Given the description of an element on the screen output the (x, y) to click on. 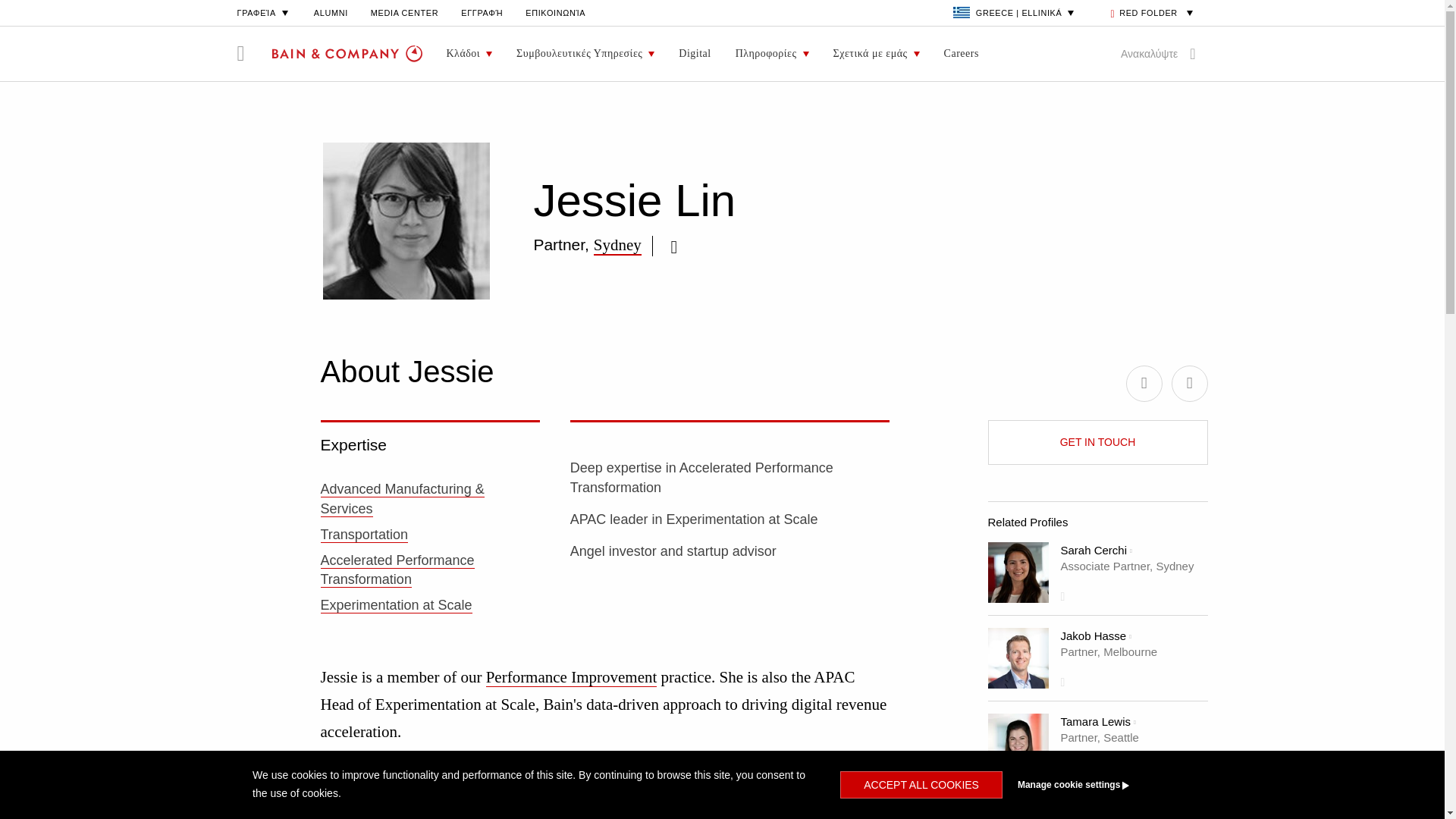
Manage cookie settings (1101, 784)
ACCEPT ALL COOKIES (921, 784)
